Given the description of an element on the screen output the (x, y) to click on. 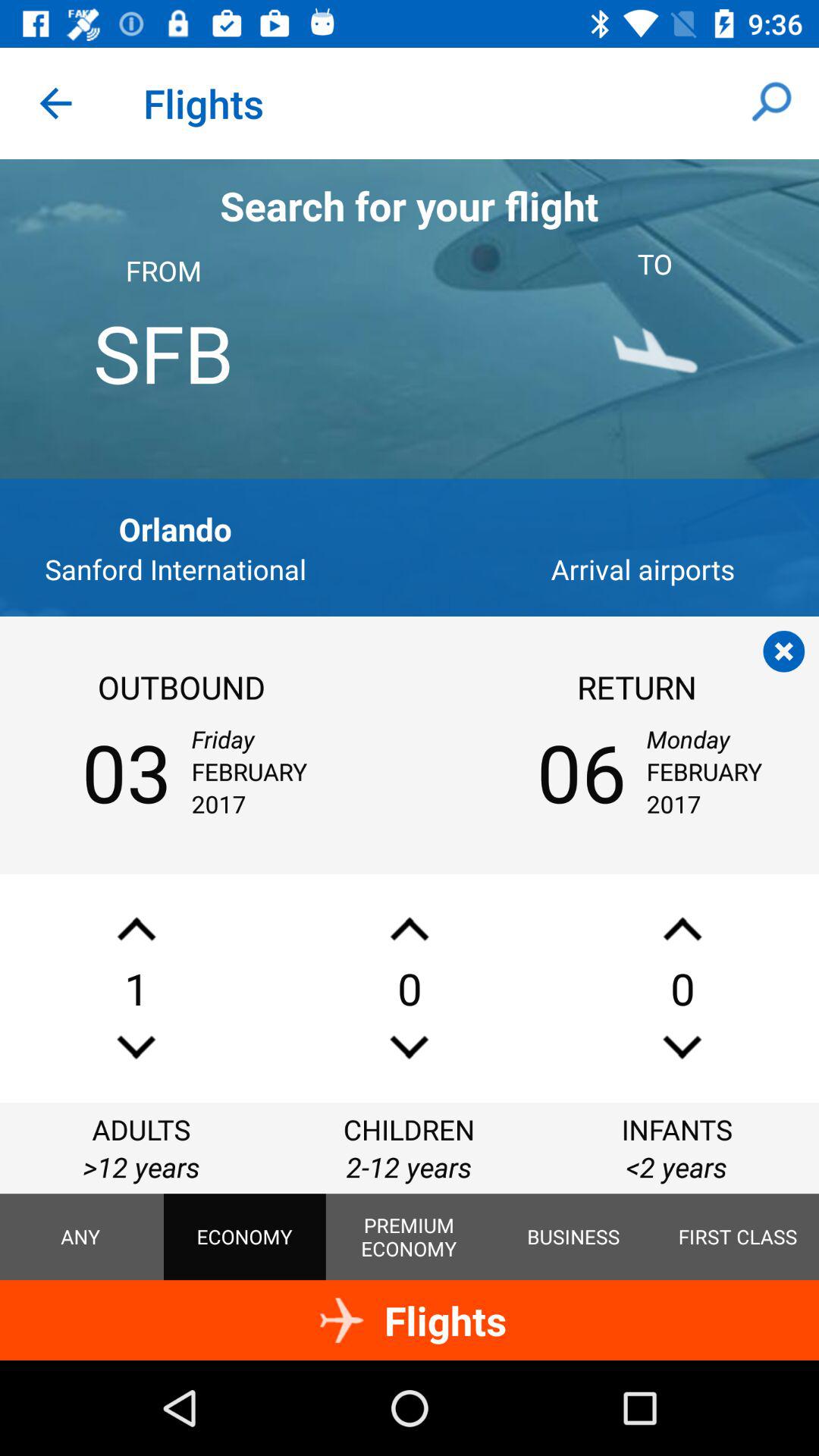
increase number of infants (682, 928)
